Given the description of an element on the screen output the (x, y) to click on. 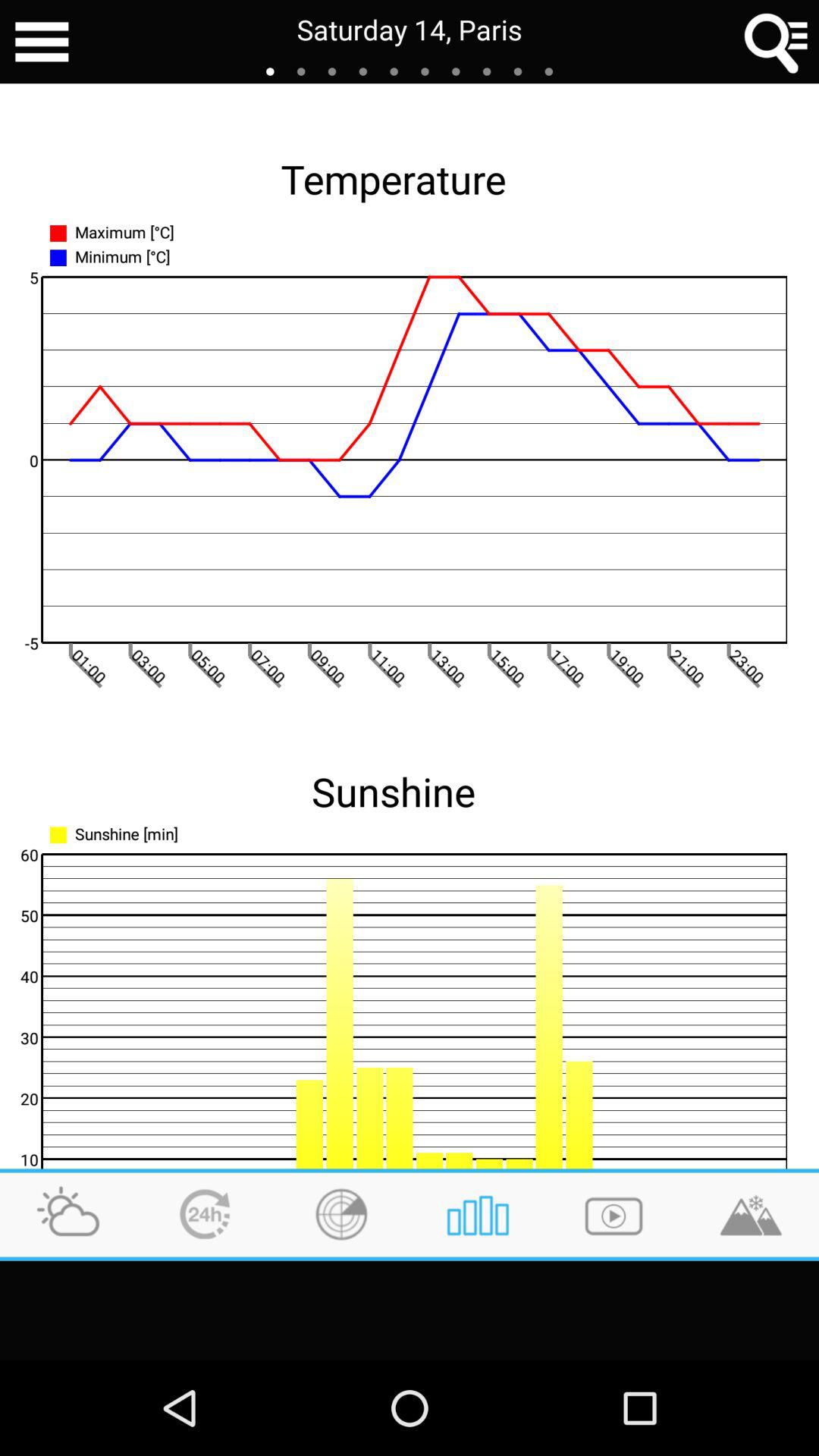
open menu (41, 41)
